Given the description of an element on the screen output the (x, y) to click on. 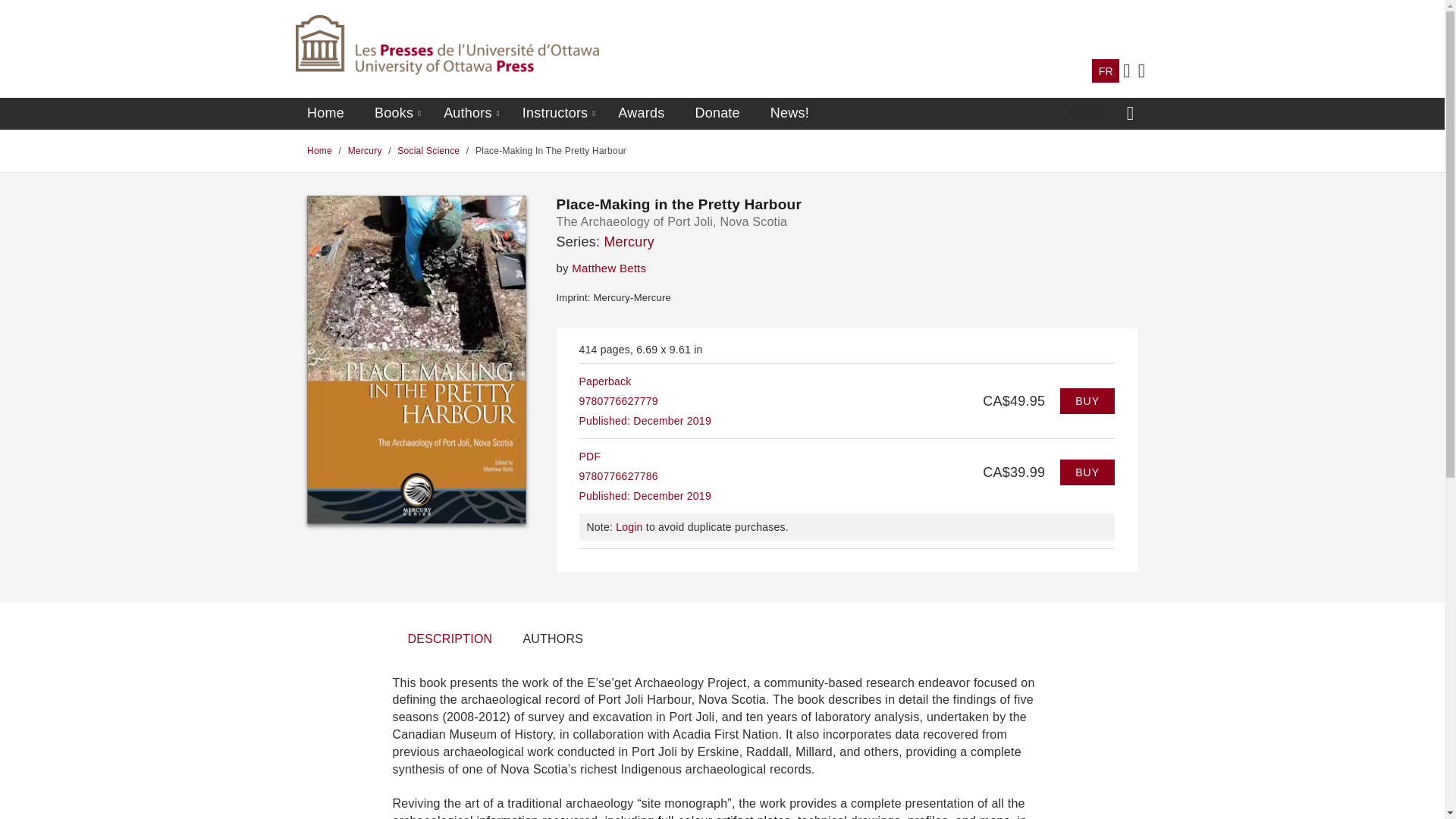
Paperback buy button (1087, 401)
Mercury (628, 241)
Instructors (555, 113)
View results for social science (428, 150)
FR (1105, 70)
View results for Mercury (366, 150)
BUY (1087, 401)
Home (319, 150)
Mercury (366, 150)
Awards (640, 113)
